Given the description of an element on the screen output the (x, y) to click on. 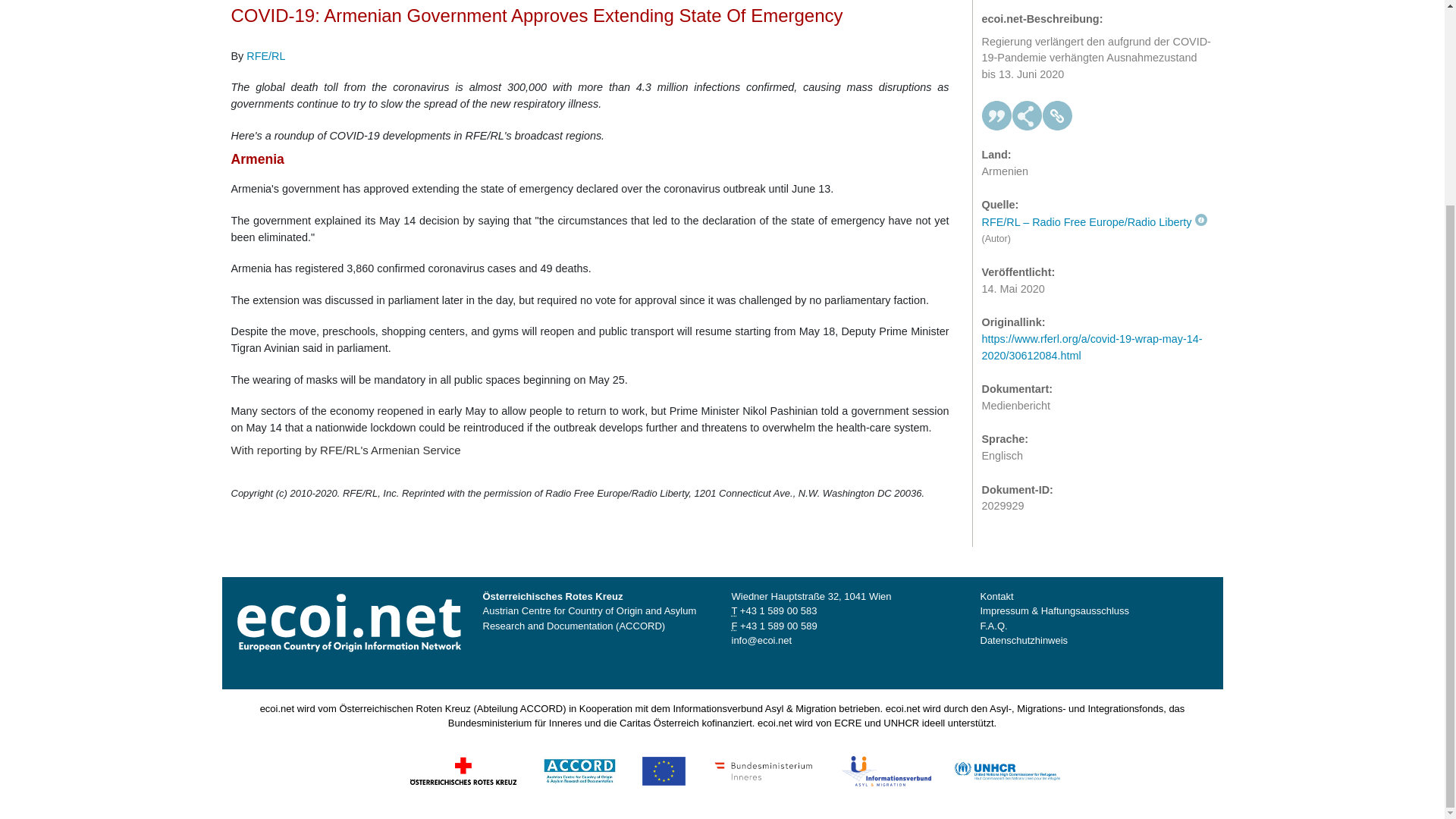
UNHCR - The UN Refugee Agency (1006, 769)
Permalink (1056, 109)
Telefon (777, 610)
Kontakt (996, 595)
Zitieren als (996, 109)
Quellenbeschreibung lesen (1094, 215)
F.A.Q. (993, 625)
Datenschutzhinweis (1023, 640)
Fax (777, 625)
Teilen (1026, 109)
